Given the description of an element on the screen output the (x, y) to click on. 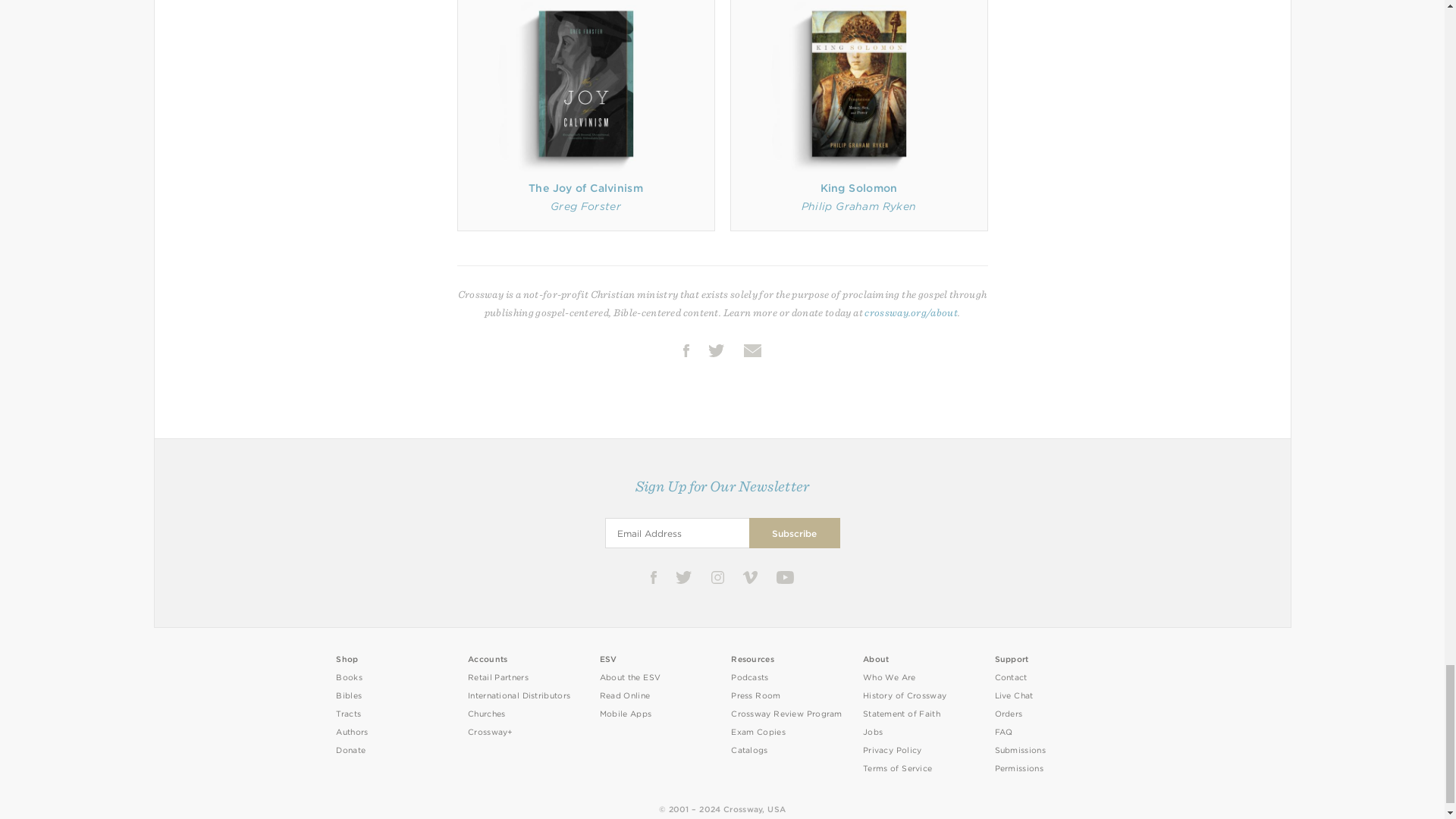
King Solomon (859, 187)
Greg Forster (585, 205)
Subscribe (794, 532)
The Joy of Calvinism (585, 187)
Philip Graham Ryken (858, 205)
